Given the description of an element on the screen output the (x, y) to click on. 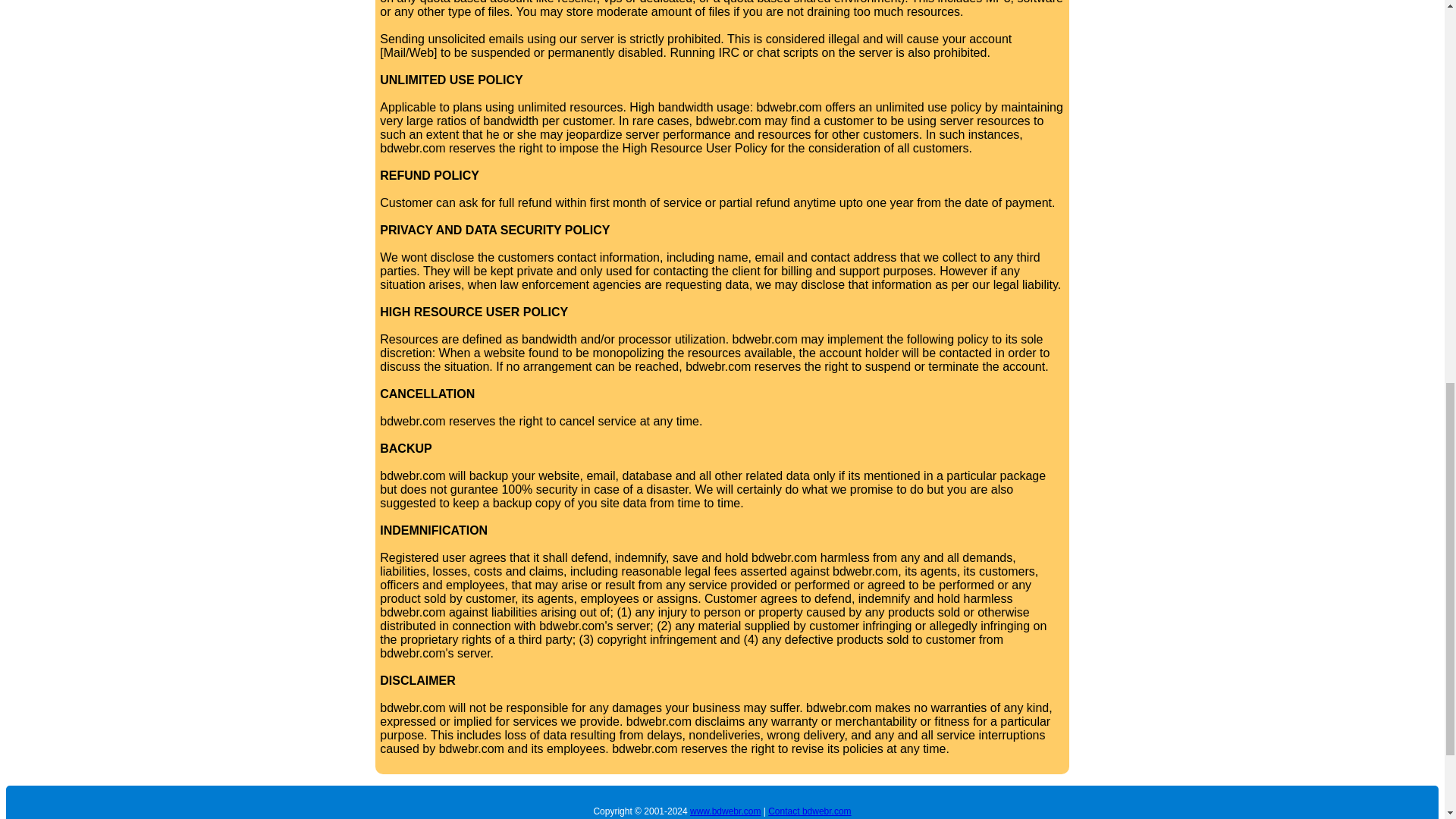
Contact bdwebr.com (809, 810)
www.bdwebr.com (725, 810)
